Given the description of an element on the screen output the (x, y) to click on. 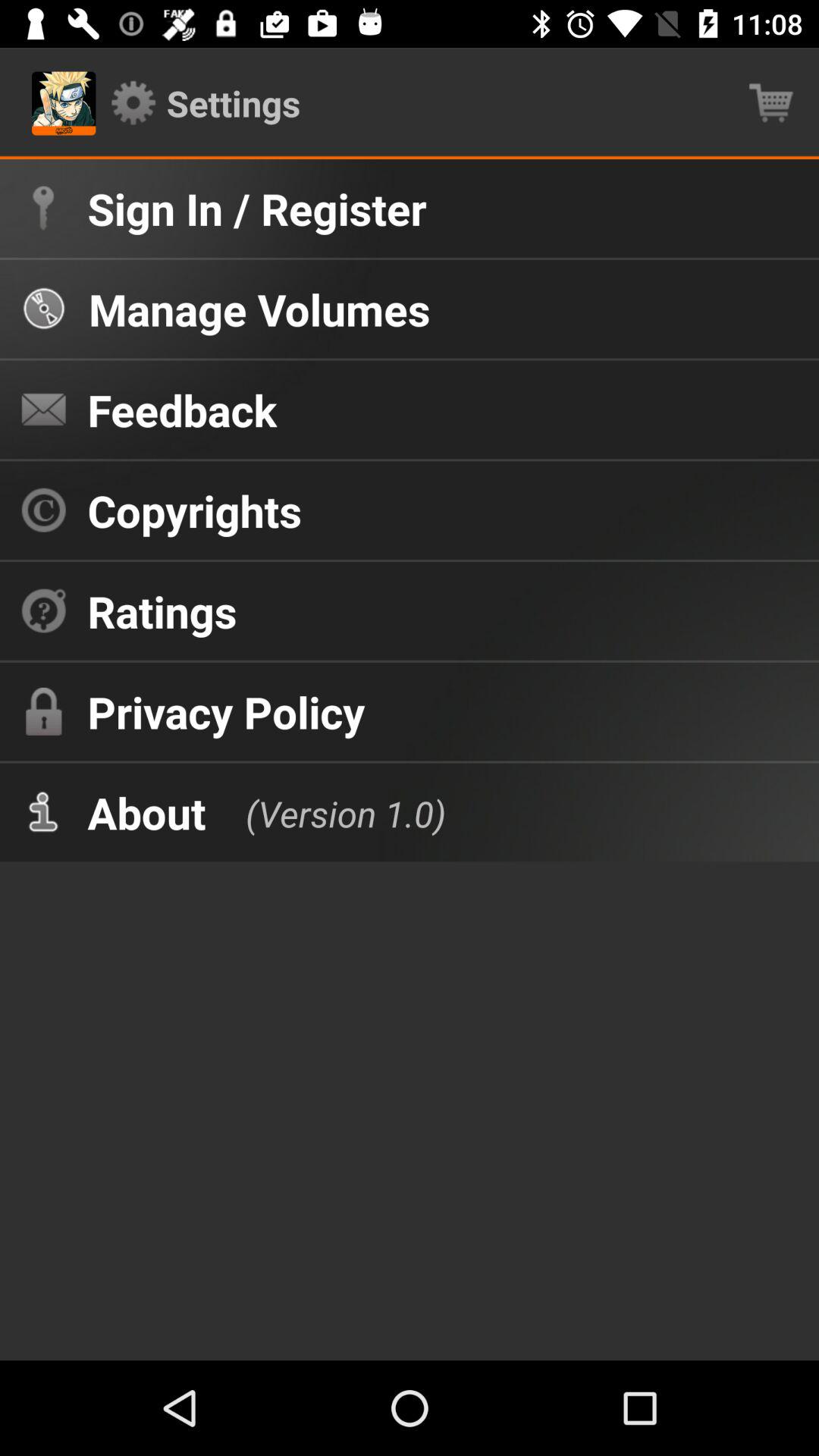
turn on (version 1.0)  item (330, 812)
